Given the description of an element on the screen output the (x, y) to click on. 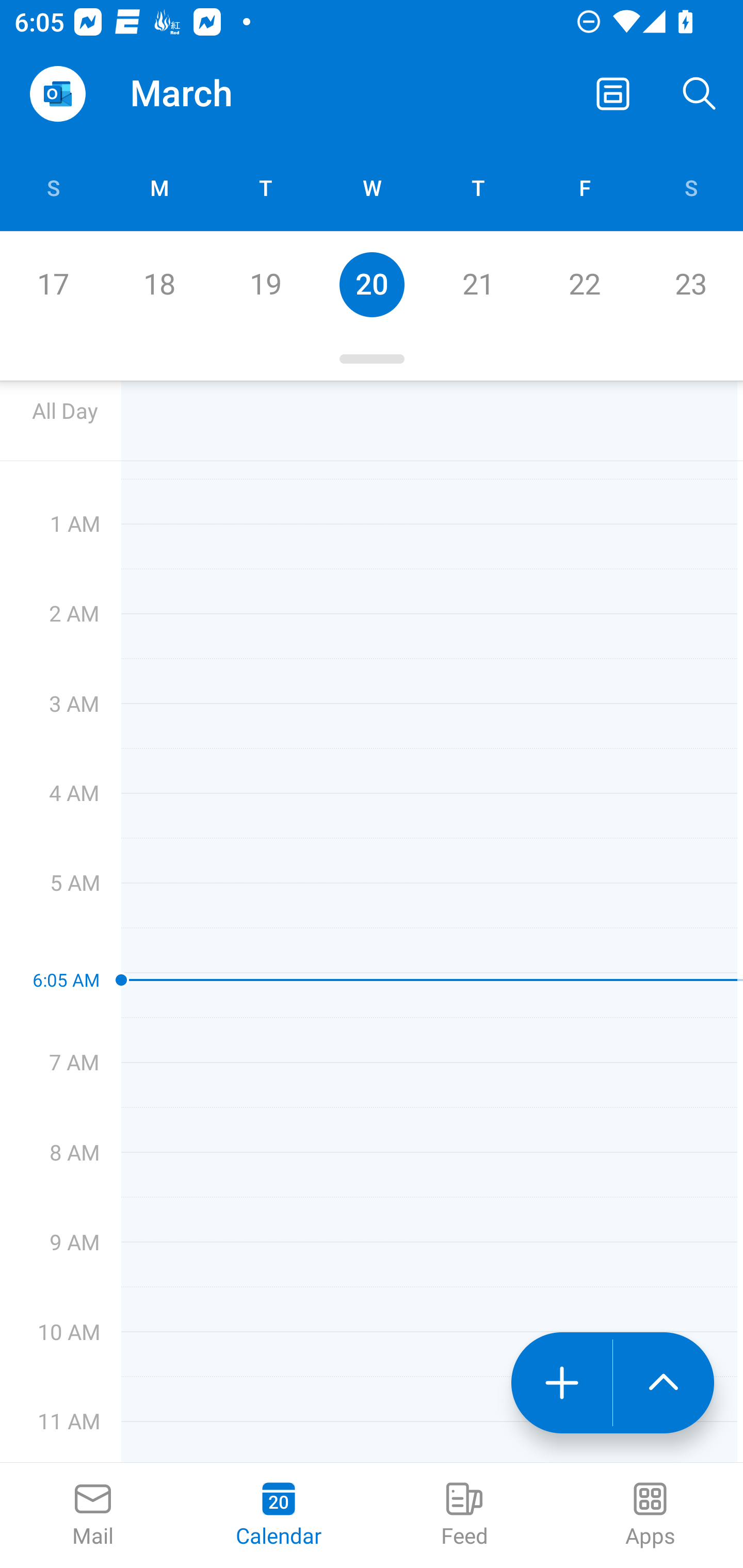
March March 2024, day picker (209, 93)
Switch away from Day view (612, 93)
Search, ,  (699, 93)
Open Navigation Drawer (57, 94)
17 Sunday, March 17 (53, 284)
18 Monday, March 18 (159, 284)
19 Tuesday, March 19 (265, 284)
20 Wednesday, March 20, today, Selected (371, 284)
21 Thursday, March 21 (477, 284)
22 Friday, March 22 (584, 284)
23 Saturday, March 23 (690, 284)
Day picker (371, 359)
New event (561, 1382)
launch the extended action menu (663, 1382)
Mail (92, 1515)
Feed (464, 1515)
Apps (650, 1515)
